Given the description of an element on the screen output the (x, y) to click on. 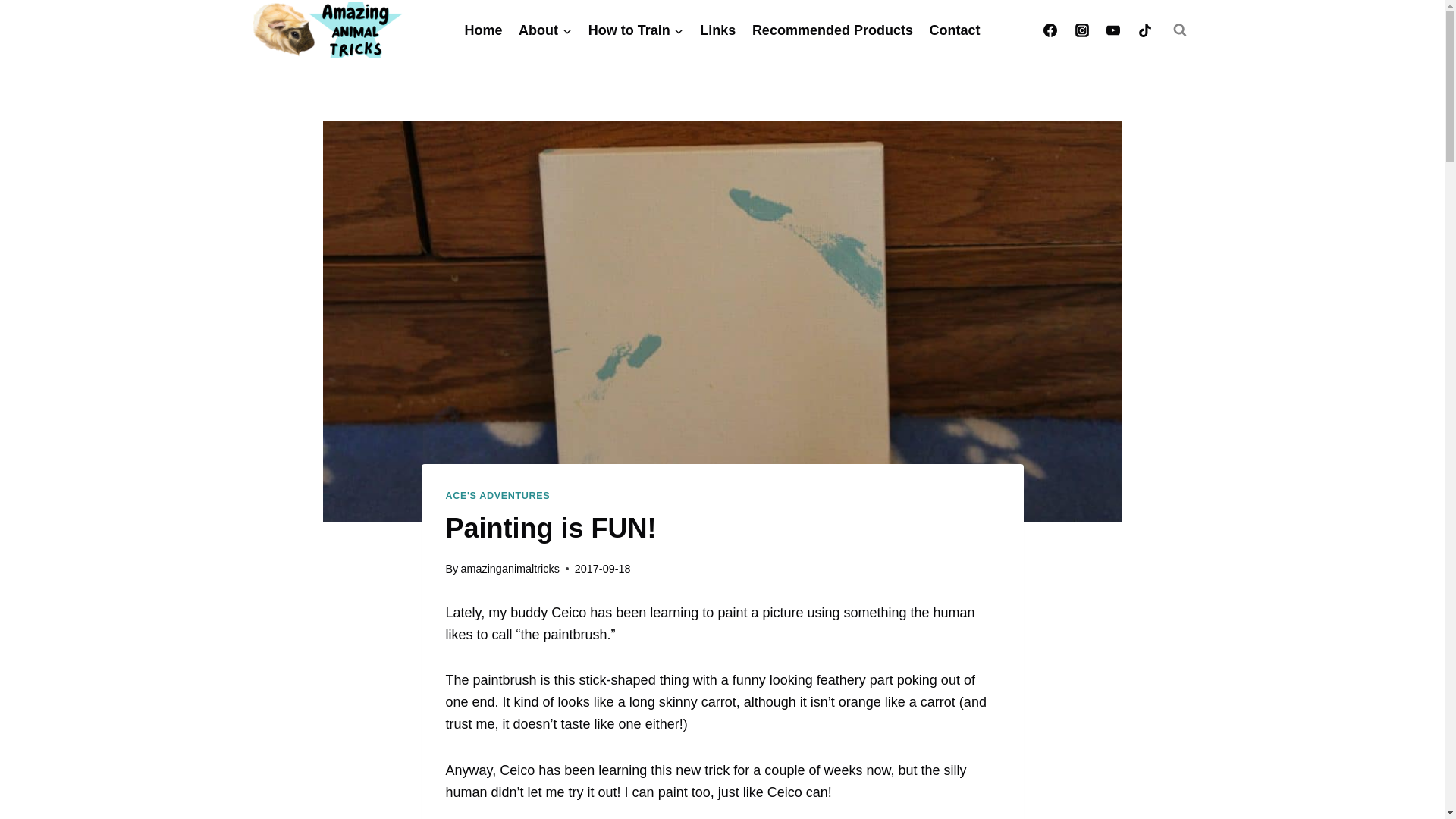
ACE'S ADVENTURES (497, 495)
About (545, 30)
Links (717, 30)
Recommended Products (832, 30)
Home (484, 30)
amazinganimaltricks (509, 568)
How to Train (636, 30)
Contact (954, 30)
